Given the description of an element on the screen output the (x, y) to click on. 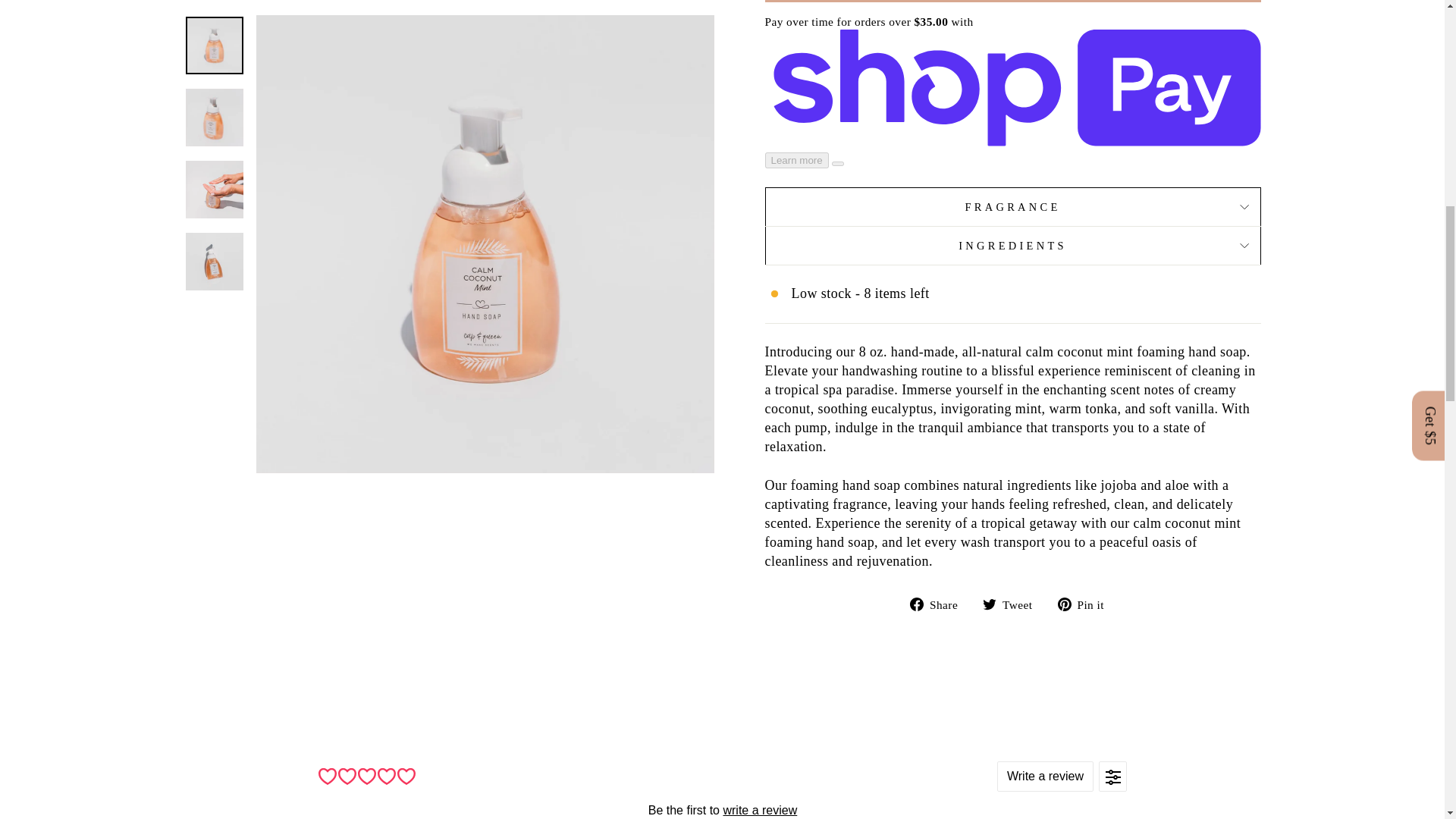
Tweet on Twitter (1012, 603)
Pin on Pinterest (1086, 603)
twitter (988, 603)
Product reviews widget (722, 782)
Share on Facebook (939, 603)
